Given the description of an element on the screen output the (x, y) to click on. 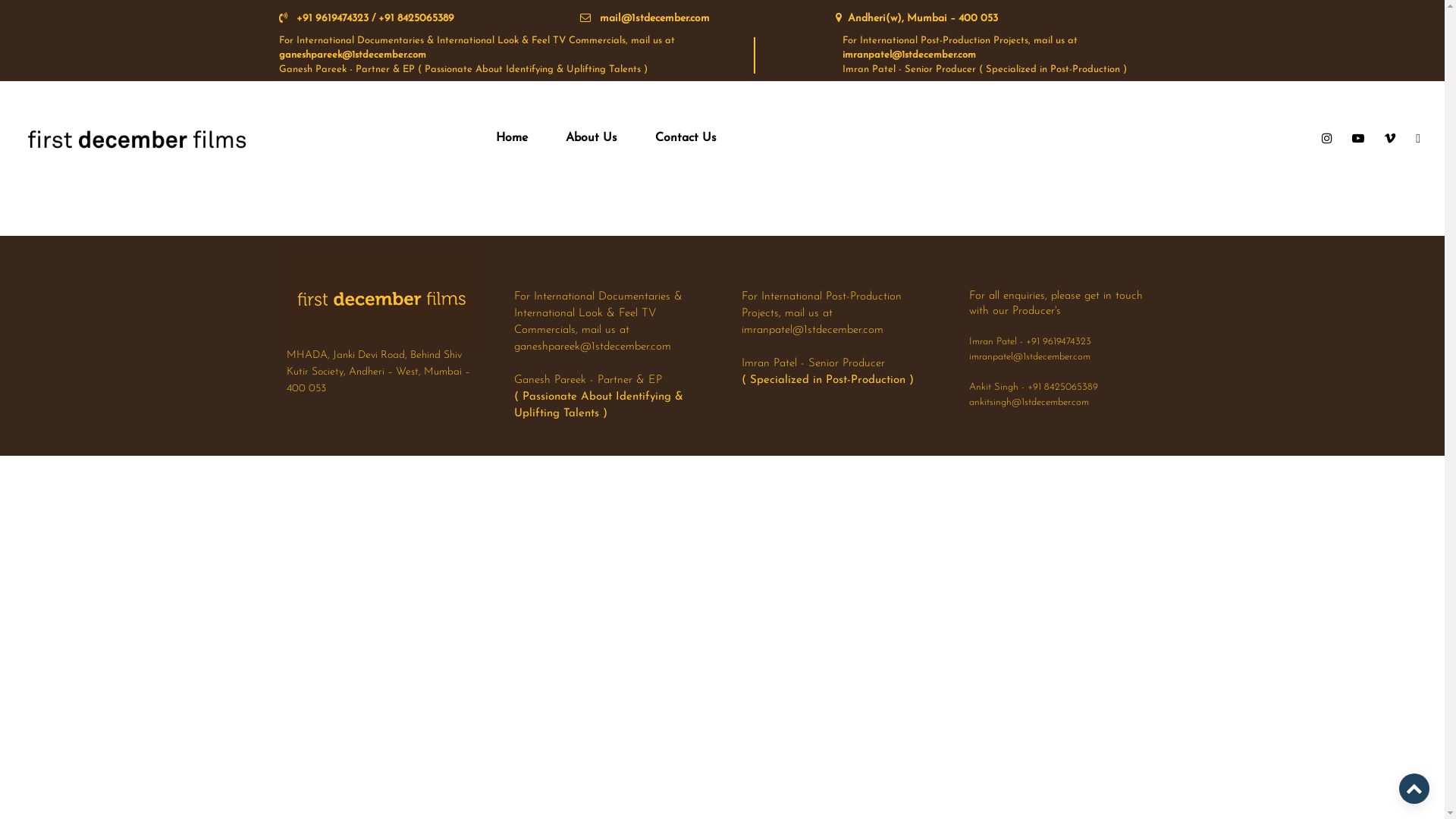
mail@1stdecember.com Element type: text (693, 18)
Contact Us Element type: text (685, 137)
About Us Element type: text (591, 137)
Home Element type: text (511, 137)
Ankit Singh - +91 8425065389 Element type: text (1033, 387)
ganeshpareek@1stdecember.com Element type: text (352, 54)
imranpatel@1stdecember.com Element type: text (1029, 356)
ankitsingh@1stdecember.com Element type: text (1028, 402)
imranpatel@1stdecember.com Element type: text (908, 54)
Imran Patel - +91 9619474323 Element type: text (1030, 341)
+91 9619474323 / +91 8425065389 Element type: text (415, 18)
